Given the description of an element on the screen output the (x, y) to click on. 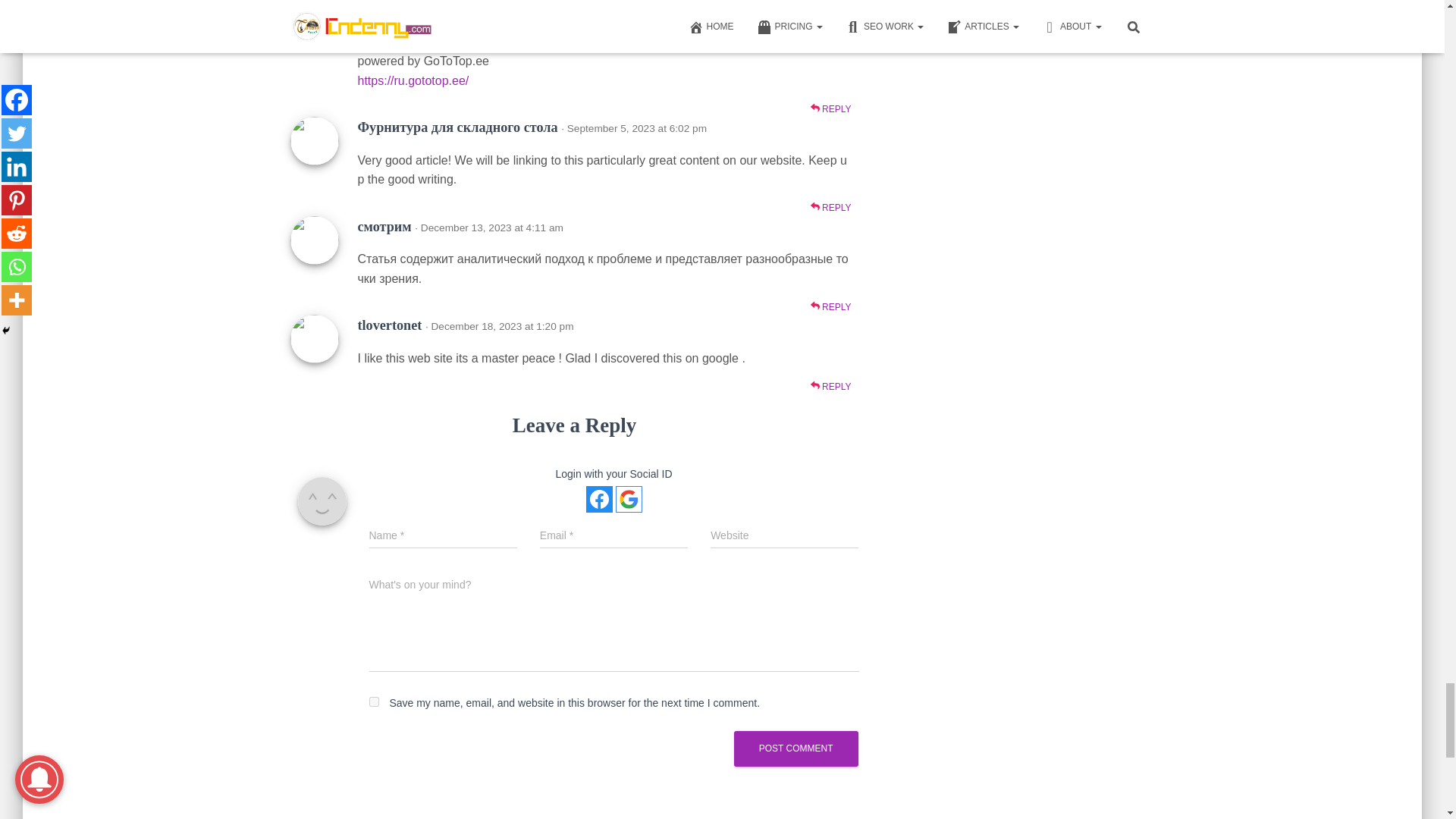
yes (373, 701)
Post Comment (796, 748)
